Given the description of an element on the screen output the (x, y) to click on. 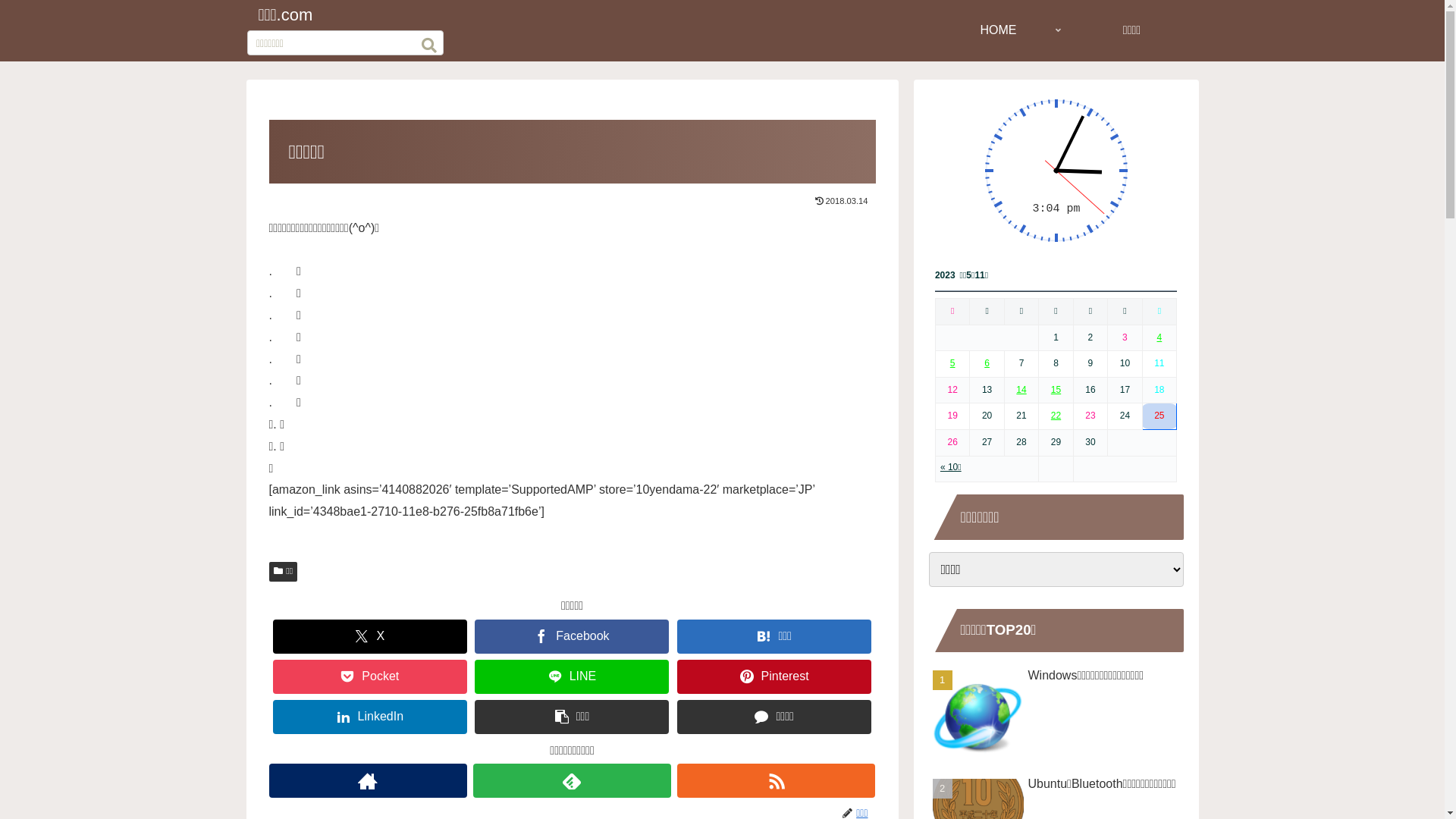
LINE Element type: text (571, 676)
14 Element type: text (1021, 389)
6 Element type: text (986, 362)
4 Element type: text (1159, 337)
Pinterest Element type: text (774, 676)
15 Element type: text (1055, 389)
LinkedIn Element type: text (370, 716)
Facebook Element type: text (571, 636)
HOME Element type: text (997, 30)
5 Element type: text (952, 362)
X Element type: text (370, 636)
Pocket Element type: text (370, 676)
22 Element type: text (1055, 415)
